Given the description of an element on the screen output the (x, y) to click on. 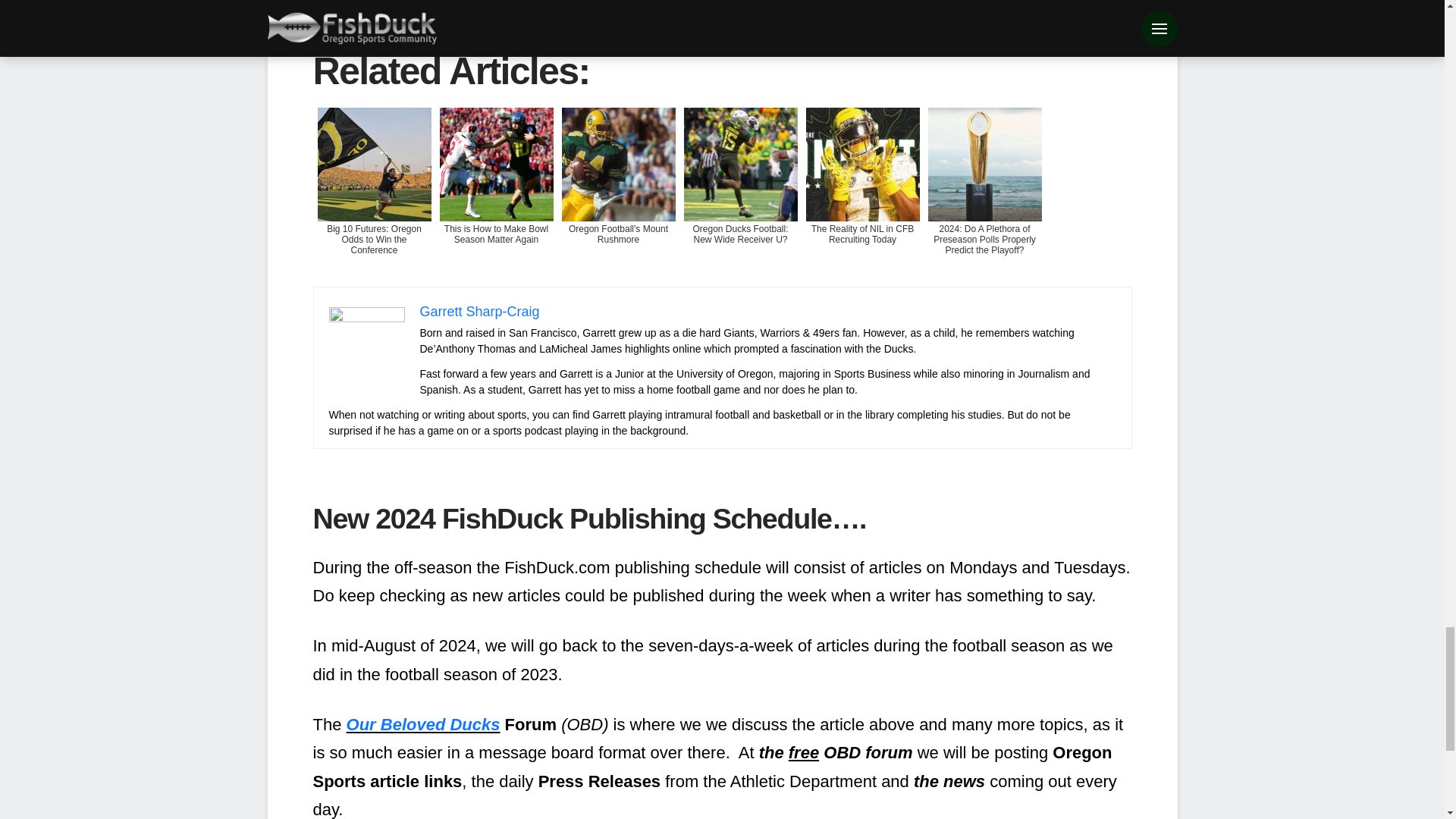
Our Beloved Ducks (423, 723)
The Reality of NIL in CFB Recruiting Today (861, 192)
Oregon Football's Mount Rushmore (617, 192)
Oregon Ducks Football: New Wide Receiver U? (740, 192)
This is How to Make Bowl Season Matter Again (496, 192)
Garrett Sharp-Craig (480, 311)
Big 10 Futures: Oregon Odds to Win the Conference (374, 192)
